Given the description of an element on the screen output the (x, y) to click on. 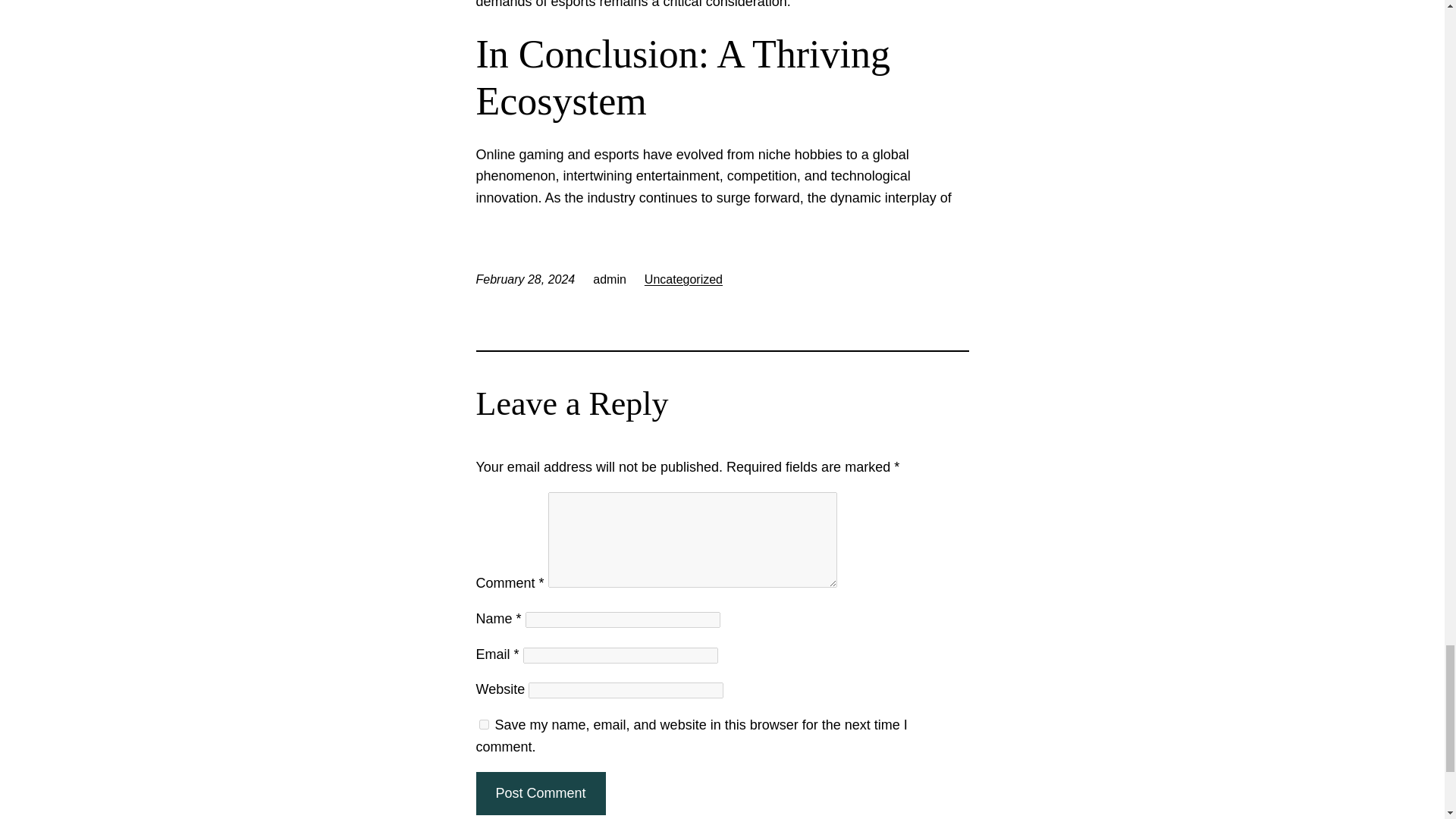
Post Comment (540, 793)
Post Comment (540, 793)
Uncategorized (683, 278)
yes (484, 724)
